Given the description of an element on the screen output the (x, y) to click on. 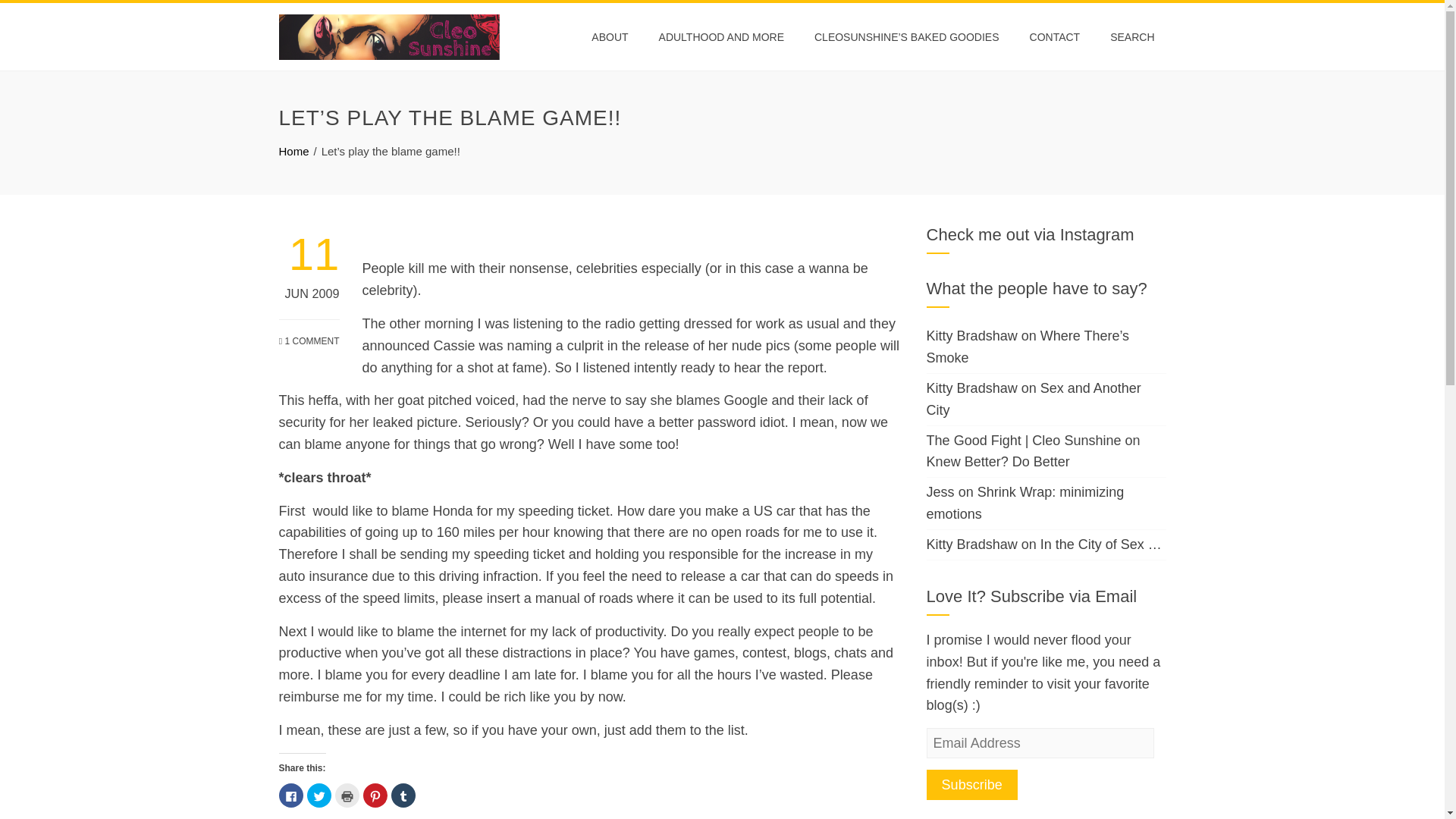
ABOUT (609, 36)
Click to share on Tumblr (402, 794)
Click to share on Twitter (317, 794)
Sex and Another City (1033, 398)
1 COMMENT (309, 333)
Click to print (346, 794)
Home (293, 151)
Click to share on Pinterest (374, 794)
SEARCH (1132, 36)
Knew Better? Do Better (998, 461)
Shrink Wrap: minimizing emotions (1025, 502)
Kitty Bradshaw (971, 387)
CONTACT (1054, 36)
Subscribe (971, 784)
Jess (940, 491)
